Given the description of an element on the screen output the (x, y) to click on. 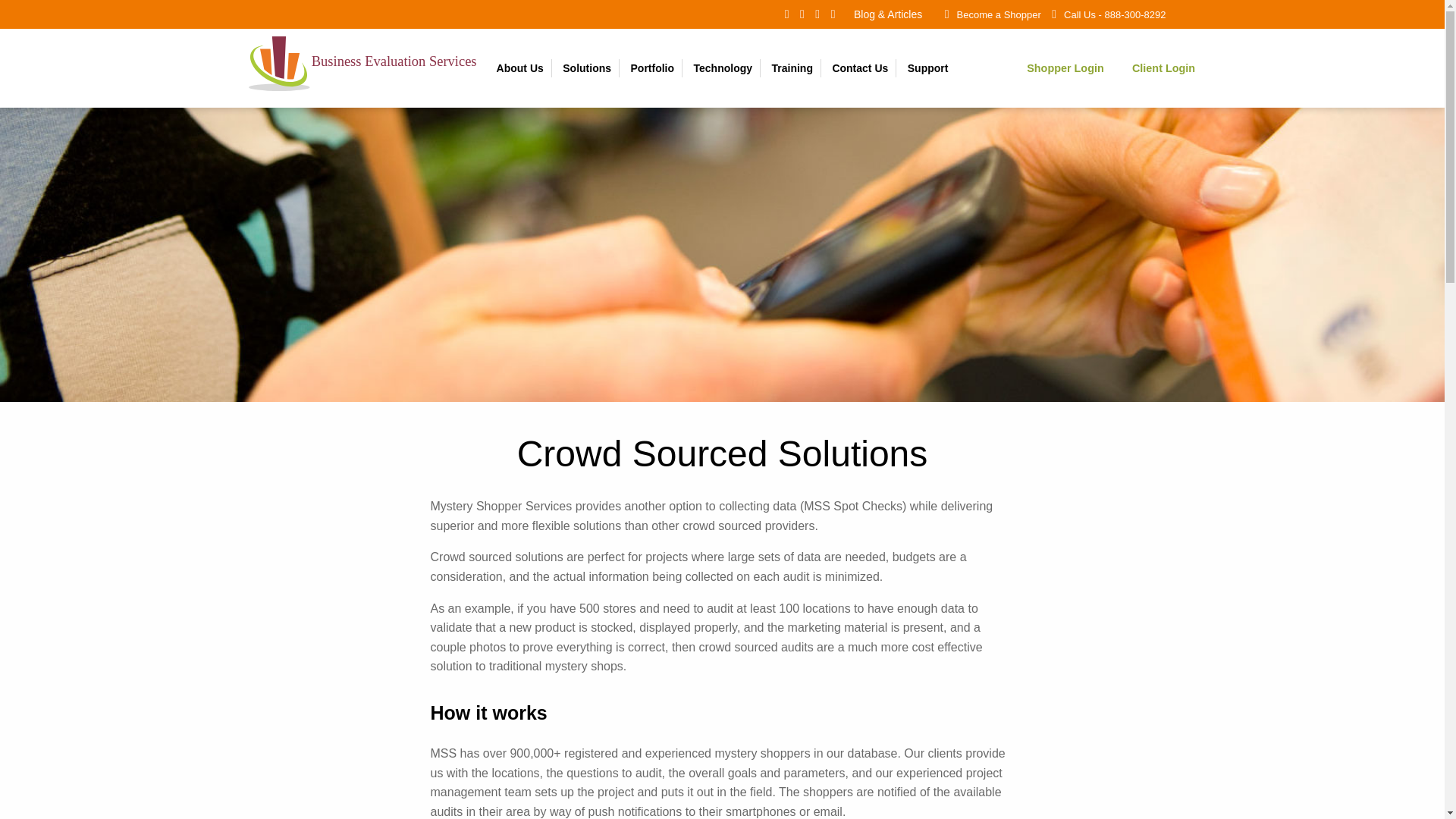
Solutions (587, 67)
Portfolio (652, 67)
Technology (722, 67)
About Us (520, 67)
Become a Shopper (998, 14)
